Given the description of an element on the screen output the (x, y) to click on. 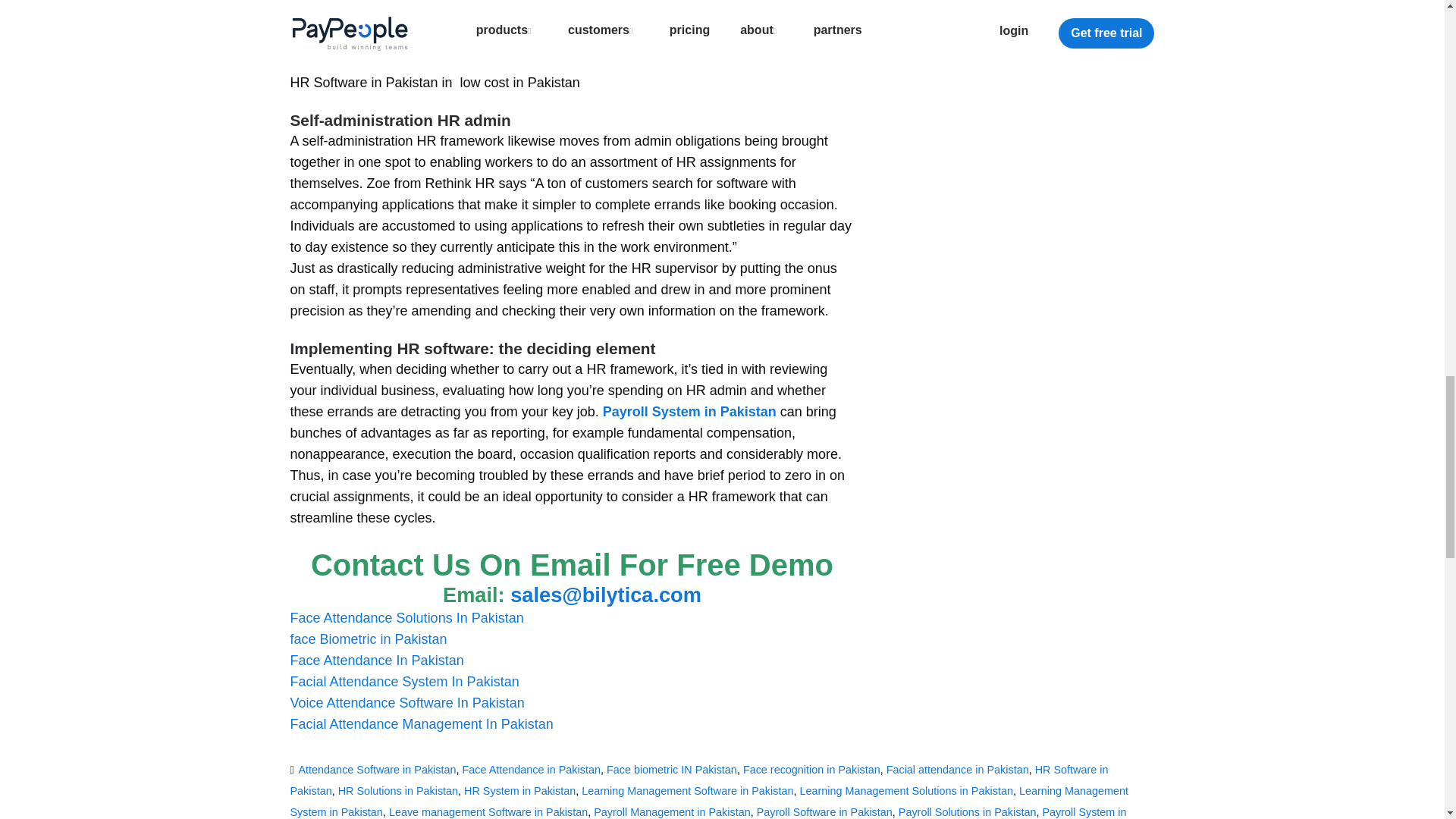
Facial Attendance Management In Pakistan (421, 724)
Face Attendance Solutions In Pakistan (405, 617)
face Biometric in Pakistan (367, 639)
Facial Attendance System In Pakistan (403, 681)
Payroll System in Pakistan (689, 411)
Voice Attendance Software In Pakistan (406, 702)
Face Attendance In Pakistan (376, 660)
